Given the description of an element on the screen output the (x, y) to click on. 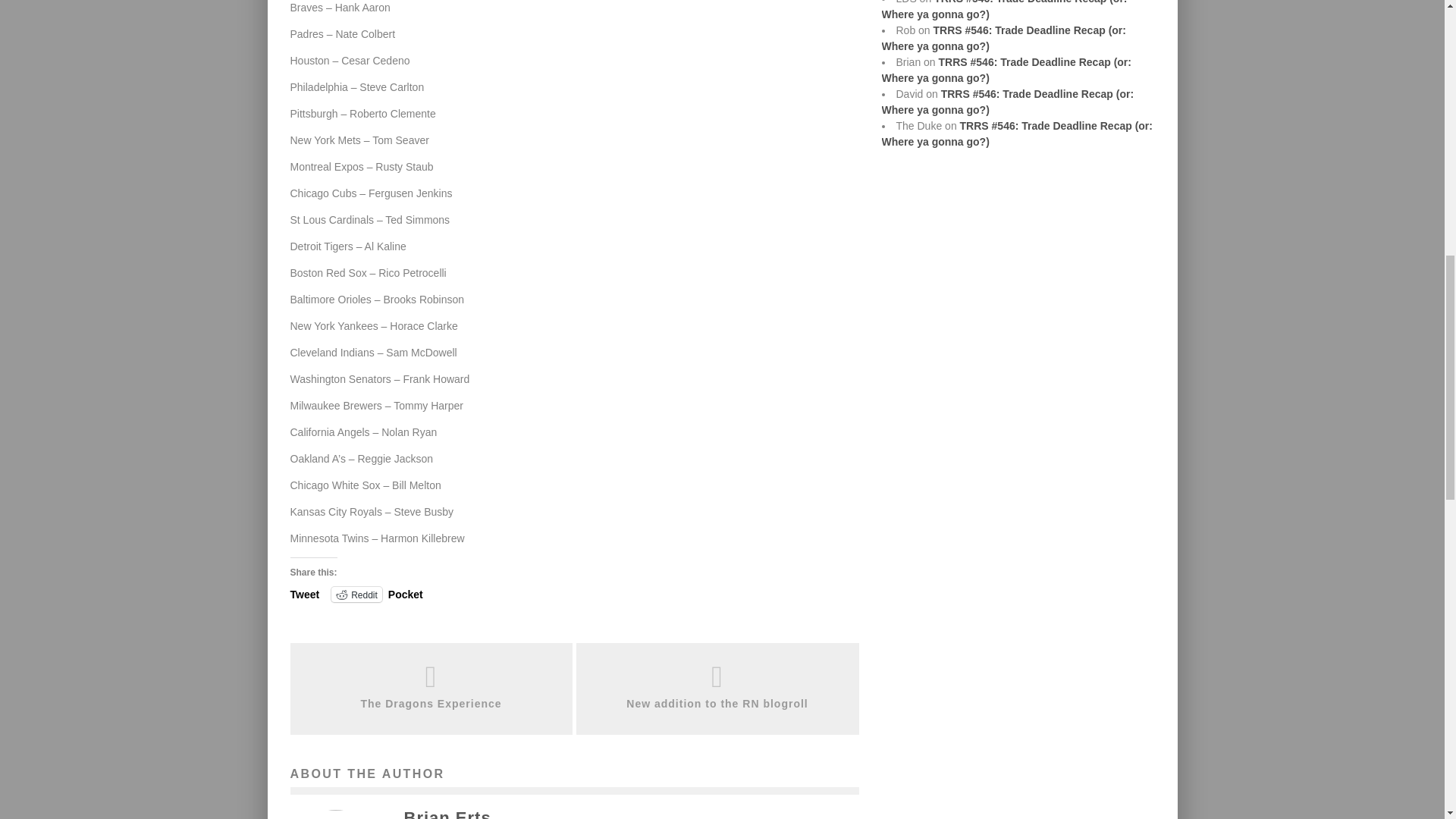
Reddit (356, 594)
Pocket (405, 594)
Tweet (303, 593)
The Dragons Experience (430, 703)
Click to share on Reddit (356, 594)
